Given the description of an element on the screen output the (x, y) to click on. 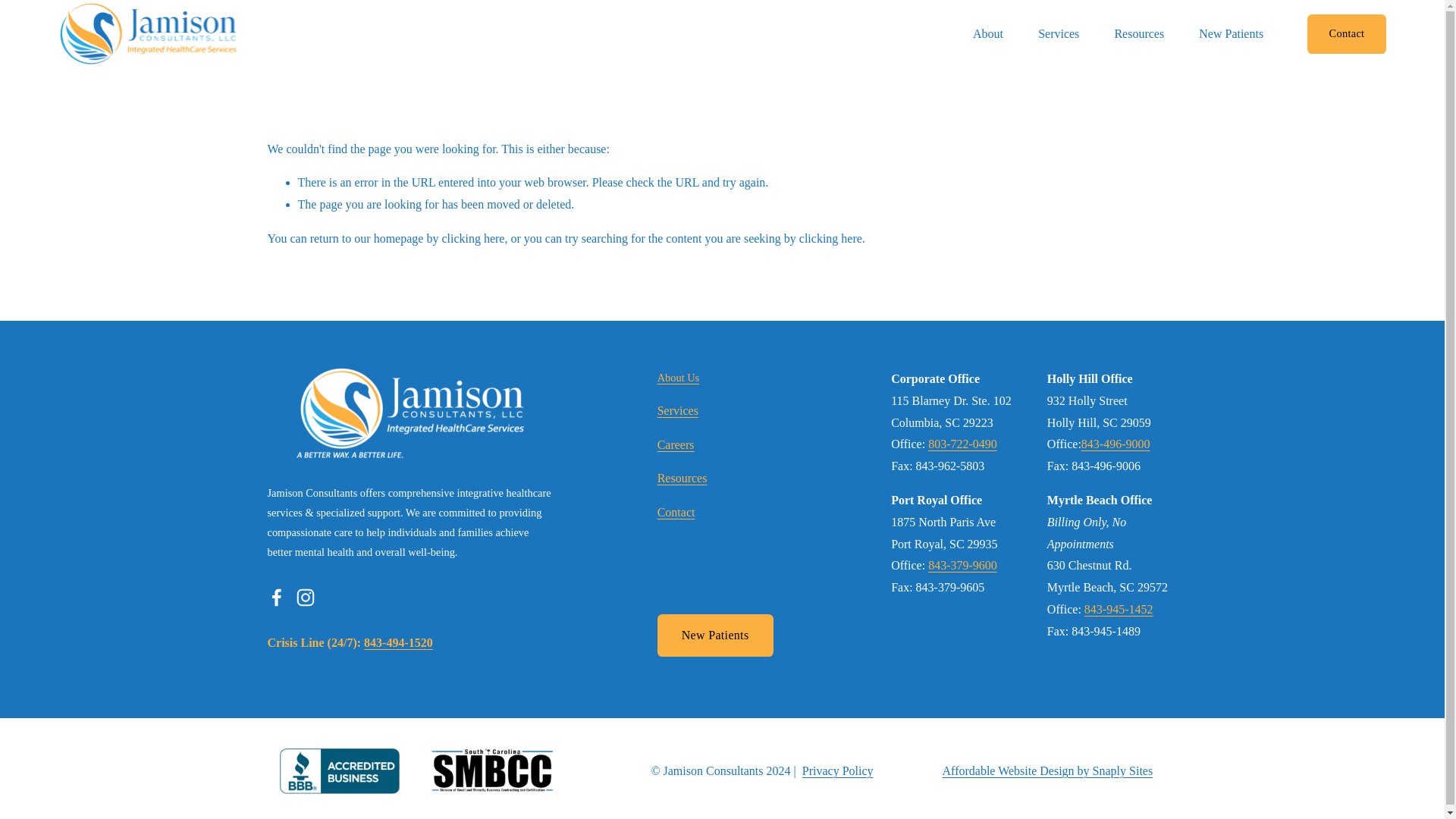
Contact (1346, 34)
843-945-1452 (1118, 609)
803-722-0490 (962, 444)
Contact (676, 513)
New Patients (715, 635)
Services (678, 411)
843-494-1520 (398, 643)
About Us (679, 378)
clicking here (472, 237)
About (987, 33)
Resources (1138, 33)
843-379-9600 (962, 566)
Careers (676, 445)
New Patients (1230, 33)
843-496-9000 (1115, 444)
